Given the description of an element on the screen output the (x, y) to click on. 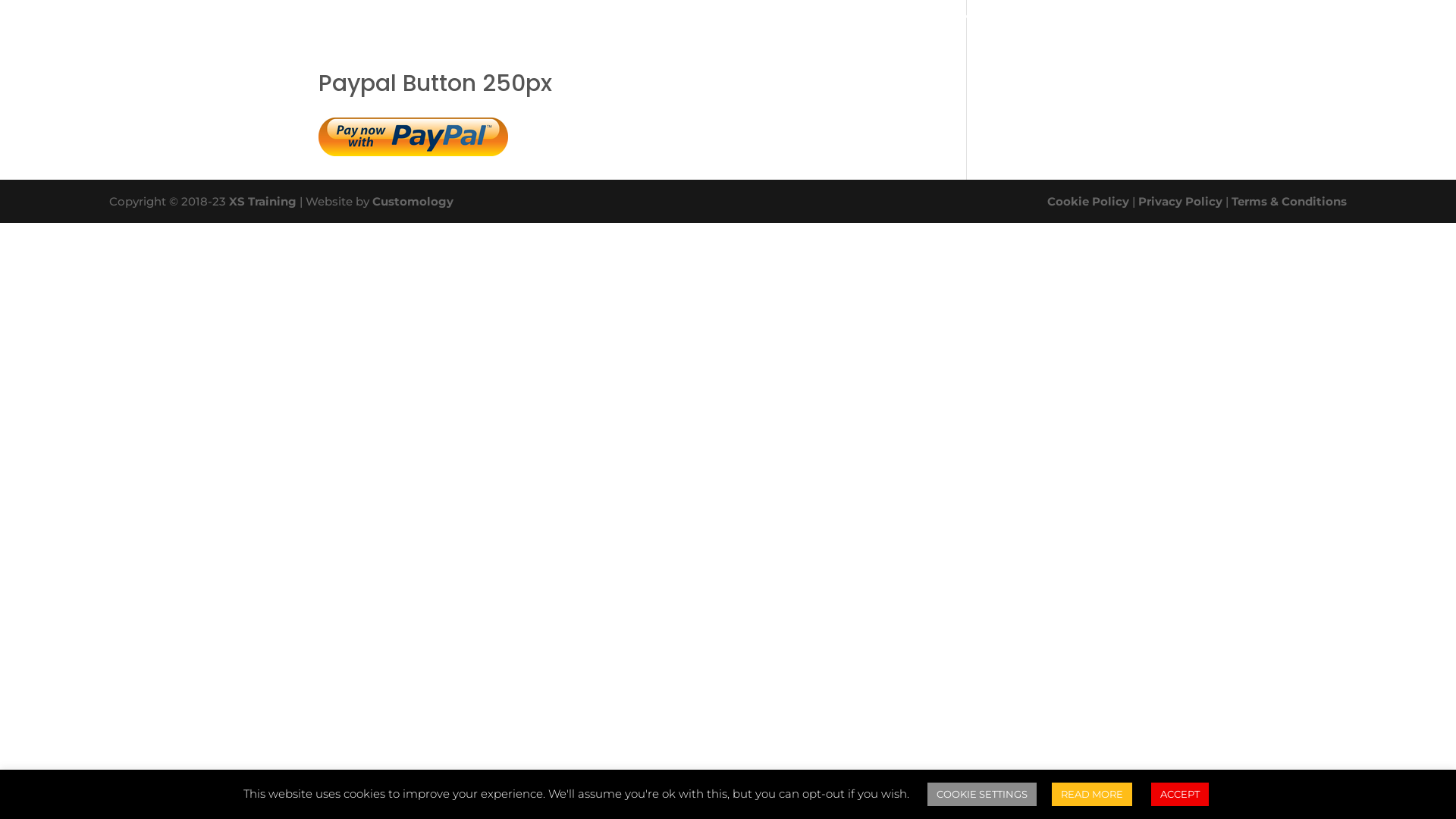
READ MORE Element type: text (1091, 794)
Why XS Training Element type: text (845, 19)
What Is The 18th Edition Element type: text (437, 19)
When Does It Start Element type: text (601, 19)
COOKIE SETTINGS Element type: text (981, 794)
XS Training Element type: text (262, 201)
ACCEPT Element type: text (1179, 794)
Who Is It For Element type: text (727, 19)
Customology Element type: text (412, 201)
Terms & Conditions Element type: text (1288, 201)
Privacy Policy Element type: text (1180, 201)
What Next Element type: text (956, 19)
Cookie Policy Element type: text (1088, 201)
Contact Us Element type: text (1055, 19)
